Given the description of an element on the screen output the (x, y) to click on. 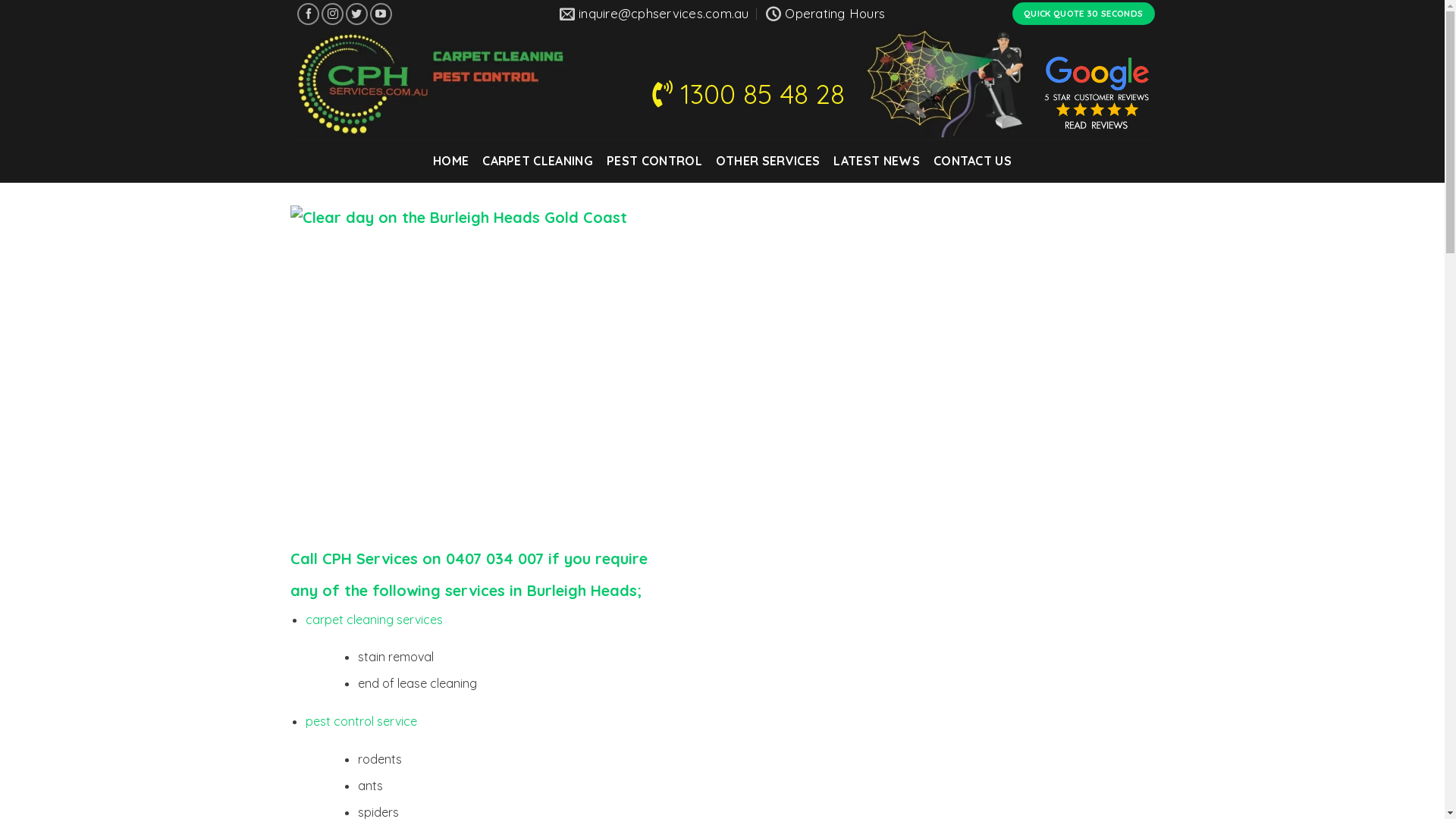
PEST CONTROL Element type: text (654, 160)
CONTACT US Element type: text (972, 160)
OTHER SERVICES Element type: text (767, 160)
LATEST NEWS Element type: text (876, 160)
inquire@cphservices.com.au Element type: text (654, 14)
pest control service Element type: text (361, 720)
CARPET CLEANING Element type: text (537, 160)
HOME Element type: text (450, 160)
carpet cleaning services Element type: text (373, 619)
QUICK QUOTE 30 SECONDS Element type: text (1083, 13)
Operating Hours Element type: text (824, 14)
